Given the description of an element on the screen output the (x, y) to click on. 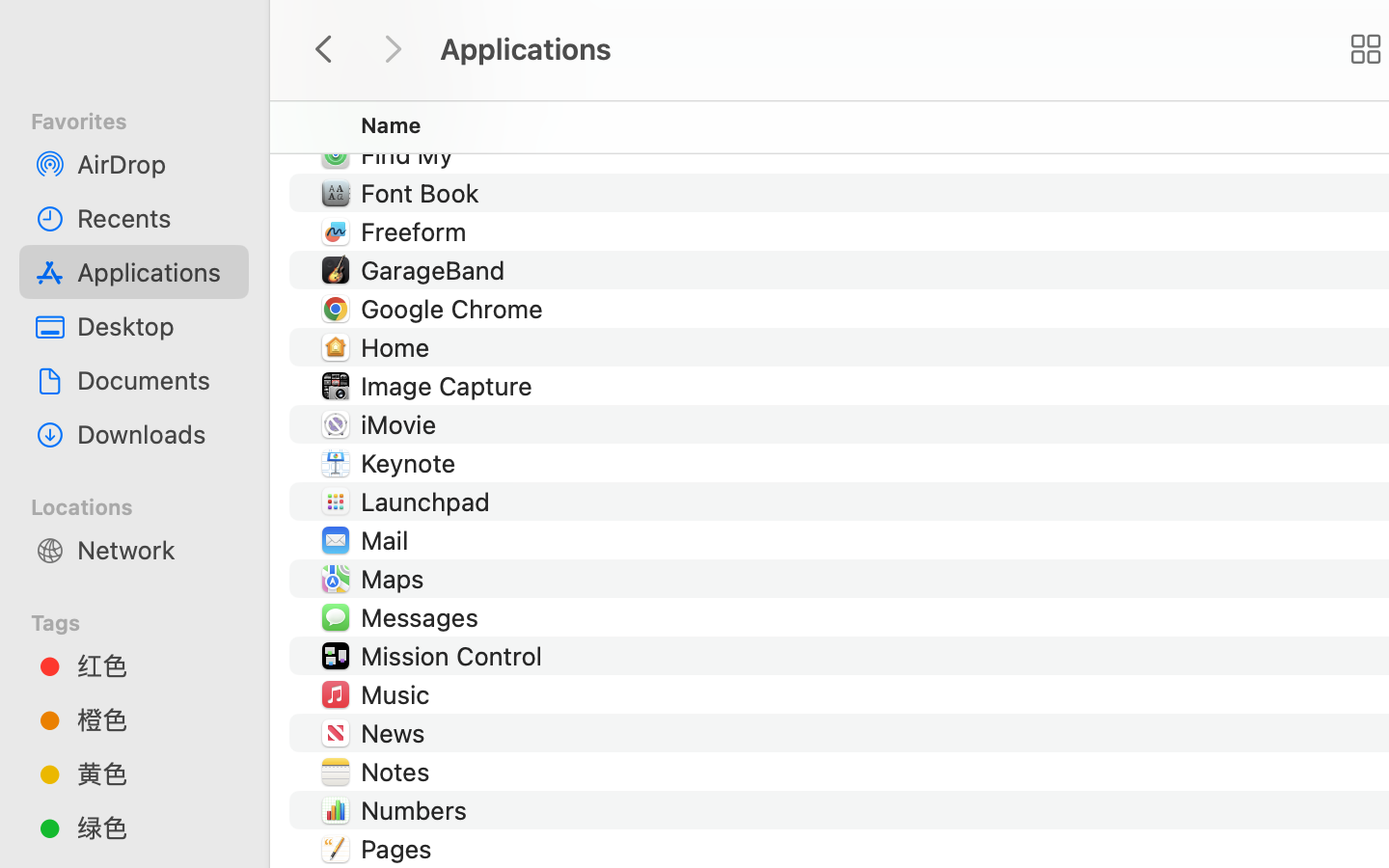
黄色 Element type: AXStaticText (155, 773)
GarageBand Element type: AXTextField (436, 269)
Locations Element type: AXStaticText (145, 504)
Contacts Element type: AXTextField (417, 38)
Maps Element type: AXTextField (395, 578)
